Given the description of an element on the screen output the (x, y) to click on. 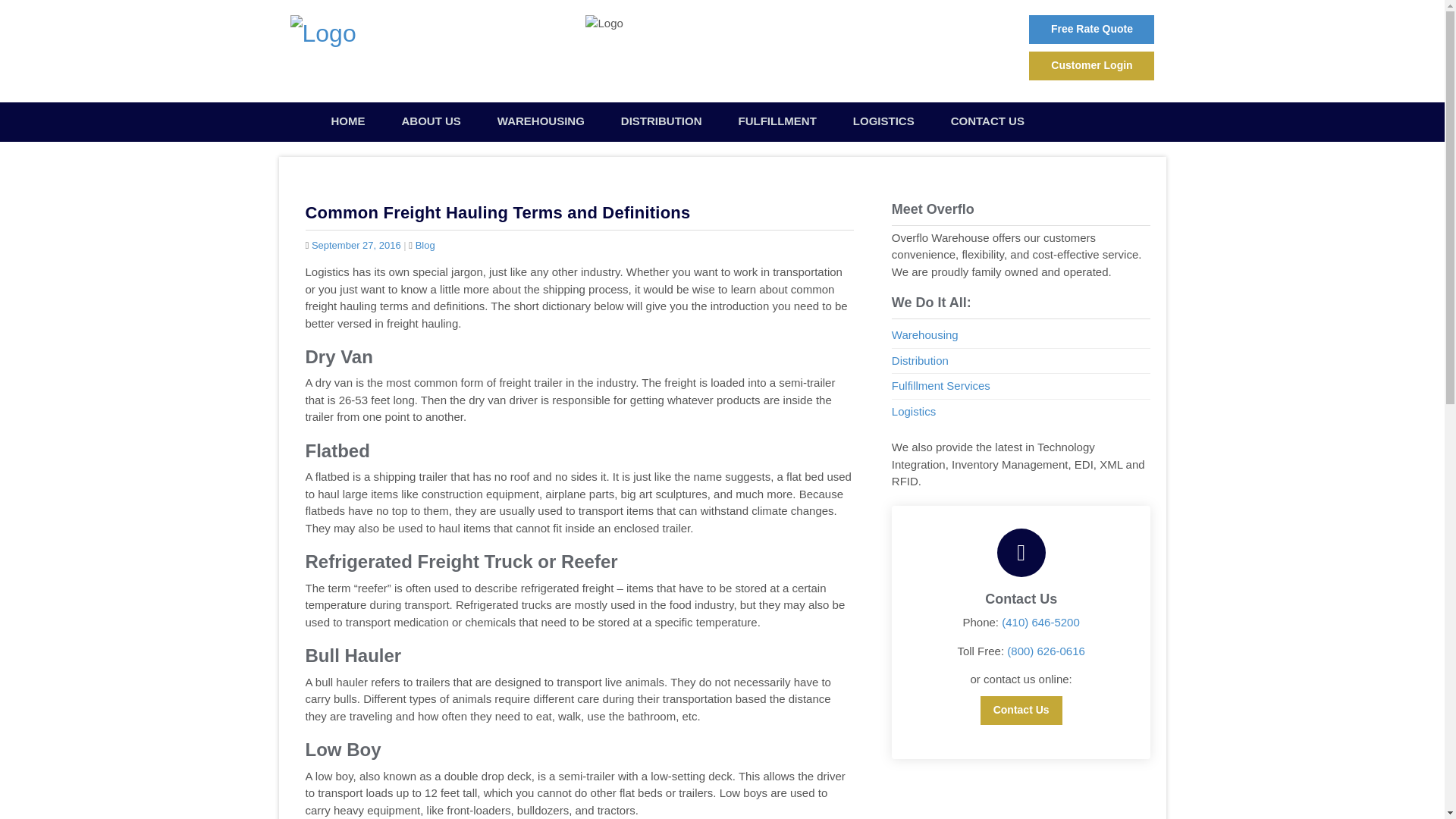
Fulfillment (777, 121)
DISTRIBUTION (661, 121)
September 27, 2016 (356, 244)
Skip to content (327, 110)
Contact Us (987, 121)
Skip to content (327, 110)
Logistics (913, 410)
1-800-626-0616 (732, 65)
Customer Login (1091, 65)
FULFILLMENT (777, 121)
